Given the description of an element on the screen output the (x, y) to click on. 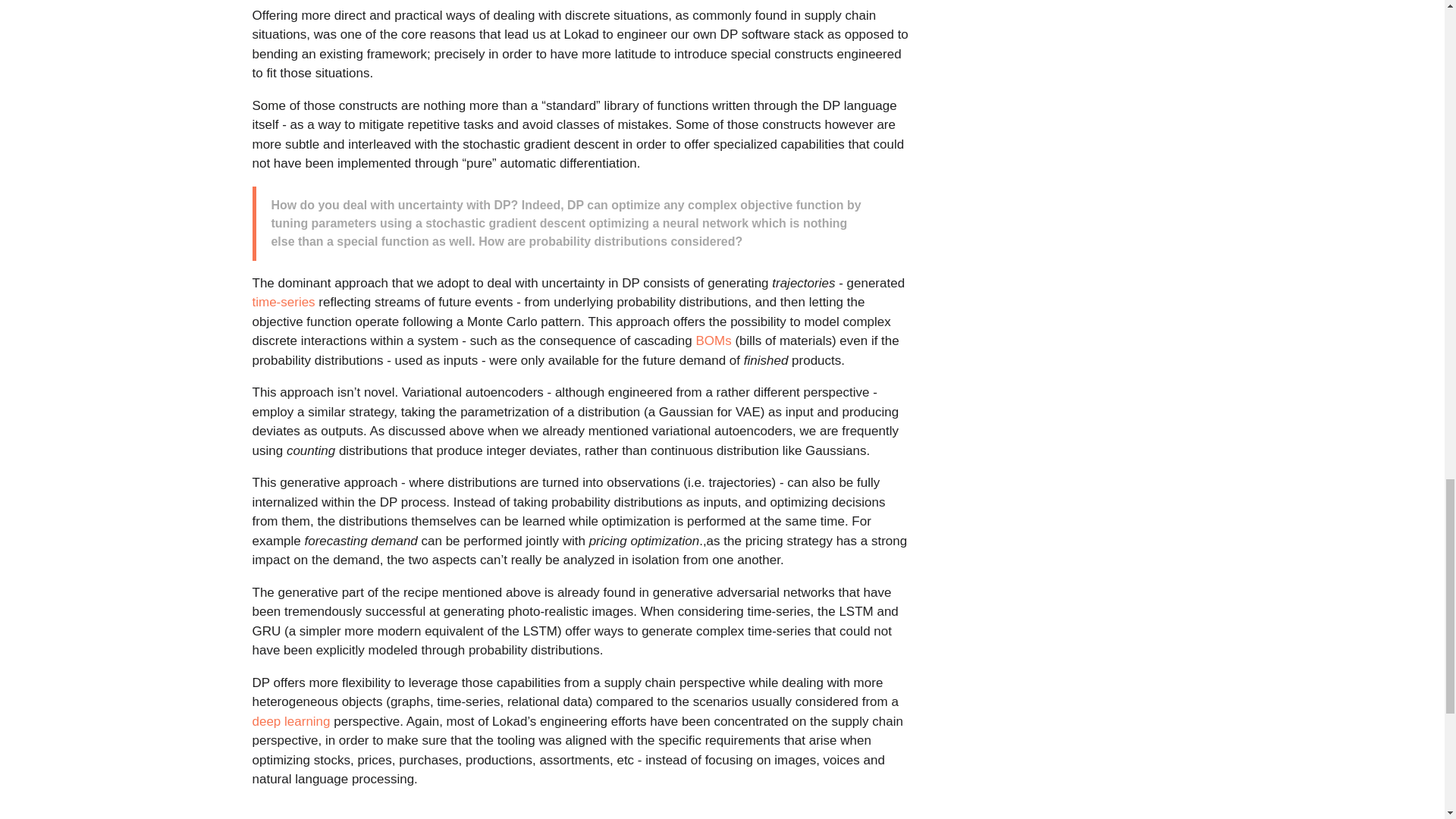
BOMs (712, 340)
deep learning (290, 721)
time-series (282, 301)
